Given the description of an element on the screen output the (x, y) to click on. 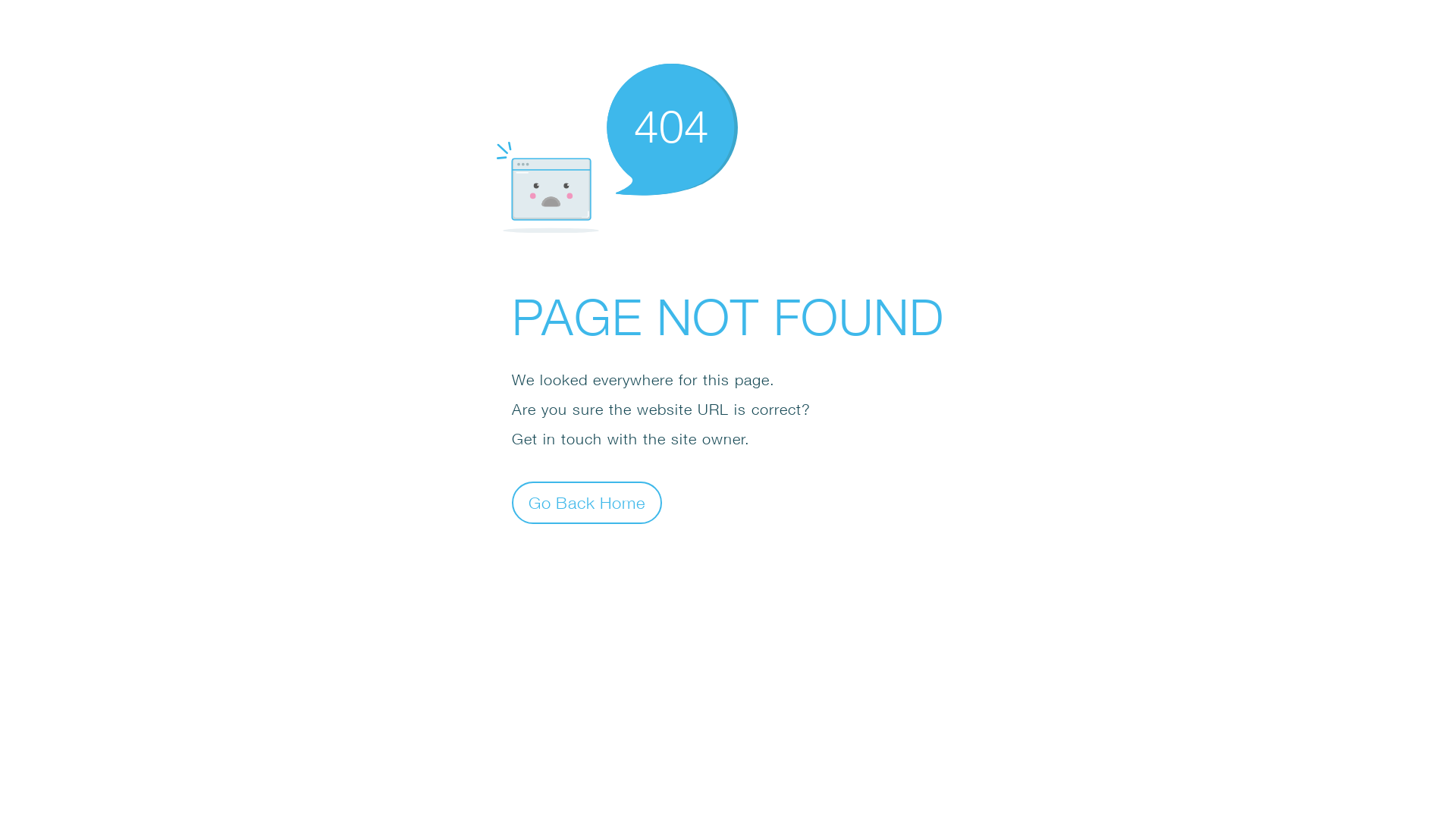
Go Back Home Element type: text (586, 502)
